Given the description of an element on the screen output the (x, y) to click on. 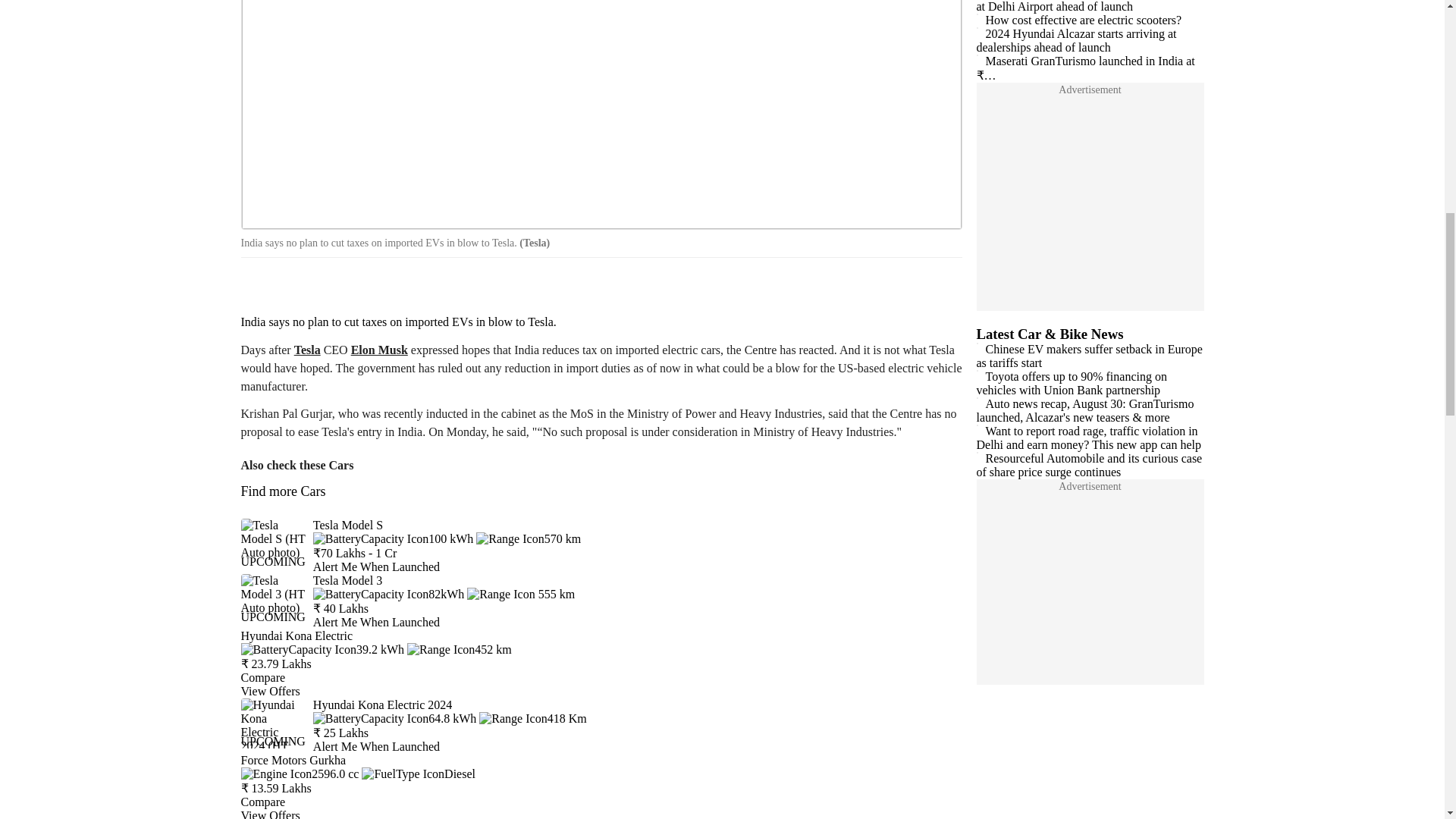
Range (532, 717)
Facebook Share (258, 283)
Tweet (299, 283)
BatteryCapacity (322, 649)
BatteryCapacity (388, 594)
Range (528, 538)
BatteryCapacity (393, 538)
Range (459, 649)
Engine (300, 773)
Range (521, 594)
